Given the description of an element on the screen output the (x, y) to click on. 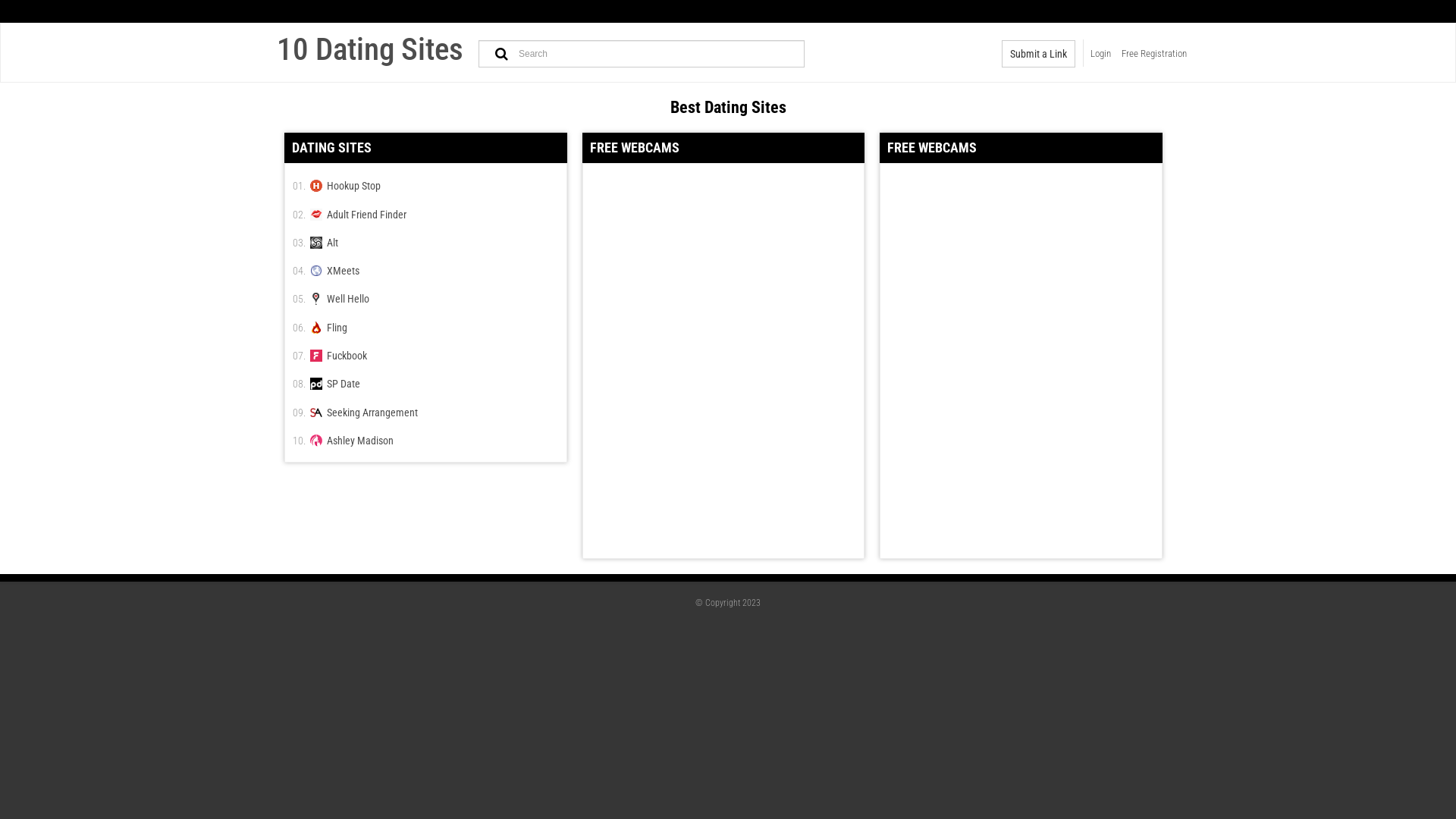
10 Dating Sites Element type: text (369, 49)
FREE WEBCAMS Element type: text (1020, 147)
Free Registration Element type: text (1153, 53)
09. Seeking Arrangement Element type: text (425, 411)
Login Element type: text (1100, 53)
08. SP Date Element type: text (425, 383)
Submit a Link Element type: text (1038, 53)
10. Ashley Madison Element type: text (425, 440)
FREE WEBCAMS Element type: text (723, 147)
06. Fling Element type: text (425, 326)
DATING SITES Element type: text (425, 147)
07. Fuckbook Element type: text (425, 355)
04. XMeets Element type: text (425, 270)
05. Well Hello Element type: text (425, 298)
01. Hookup Stop Element type: text (425, 185)
02. Adult Friend Finder Element type: text (425, 213)
03. Alt Element type: text (425, 242)
